Given the description of an element on the screen output the (x, y) to click on. 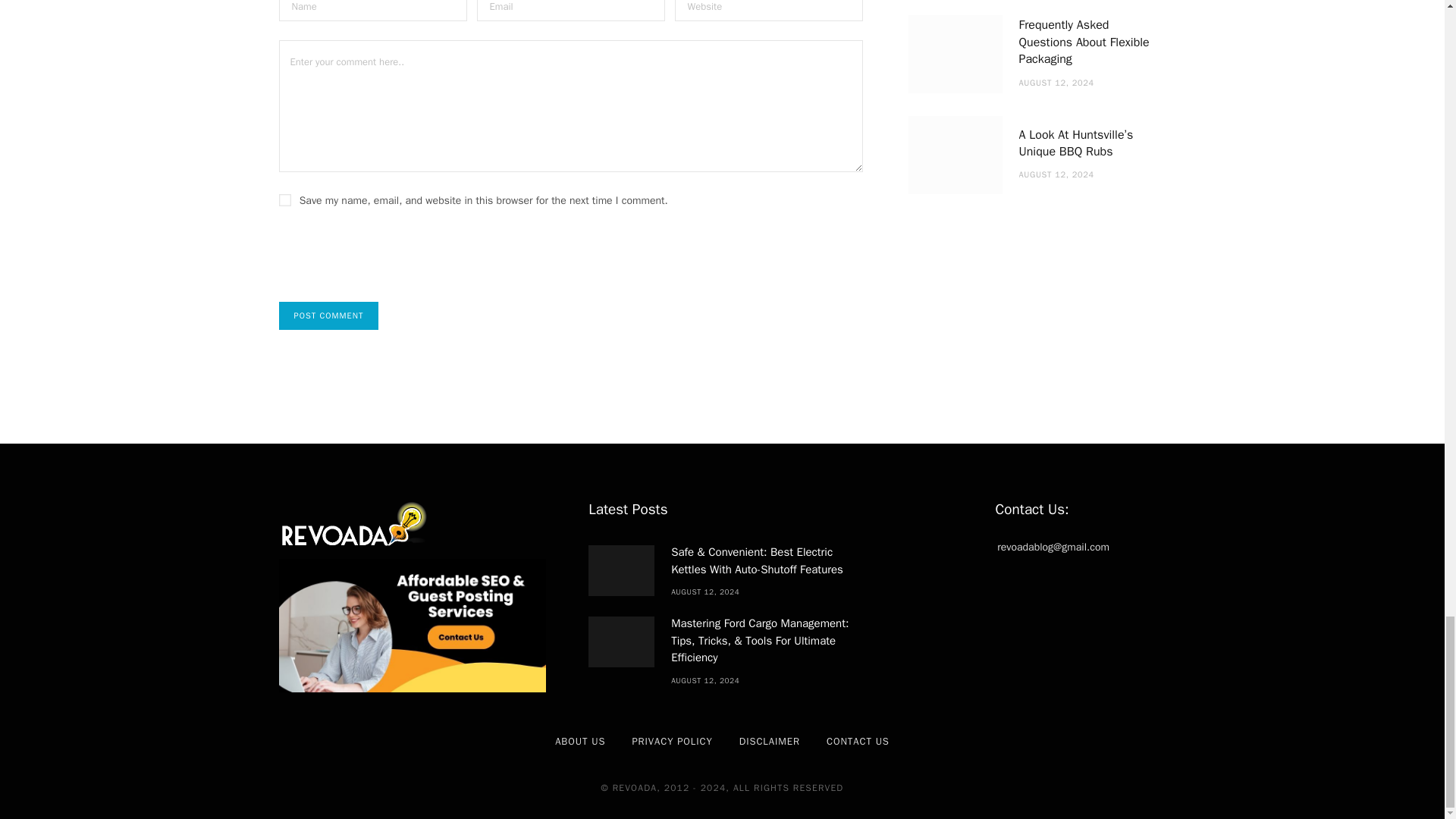
reCAPTCHA (394, 266)
yes (285, 200)
Post Comment (328, 316)
